Given the description of an element on the screen output the (x, y) to click on. 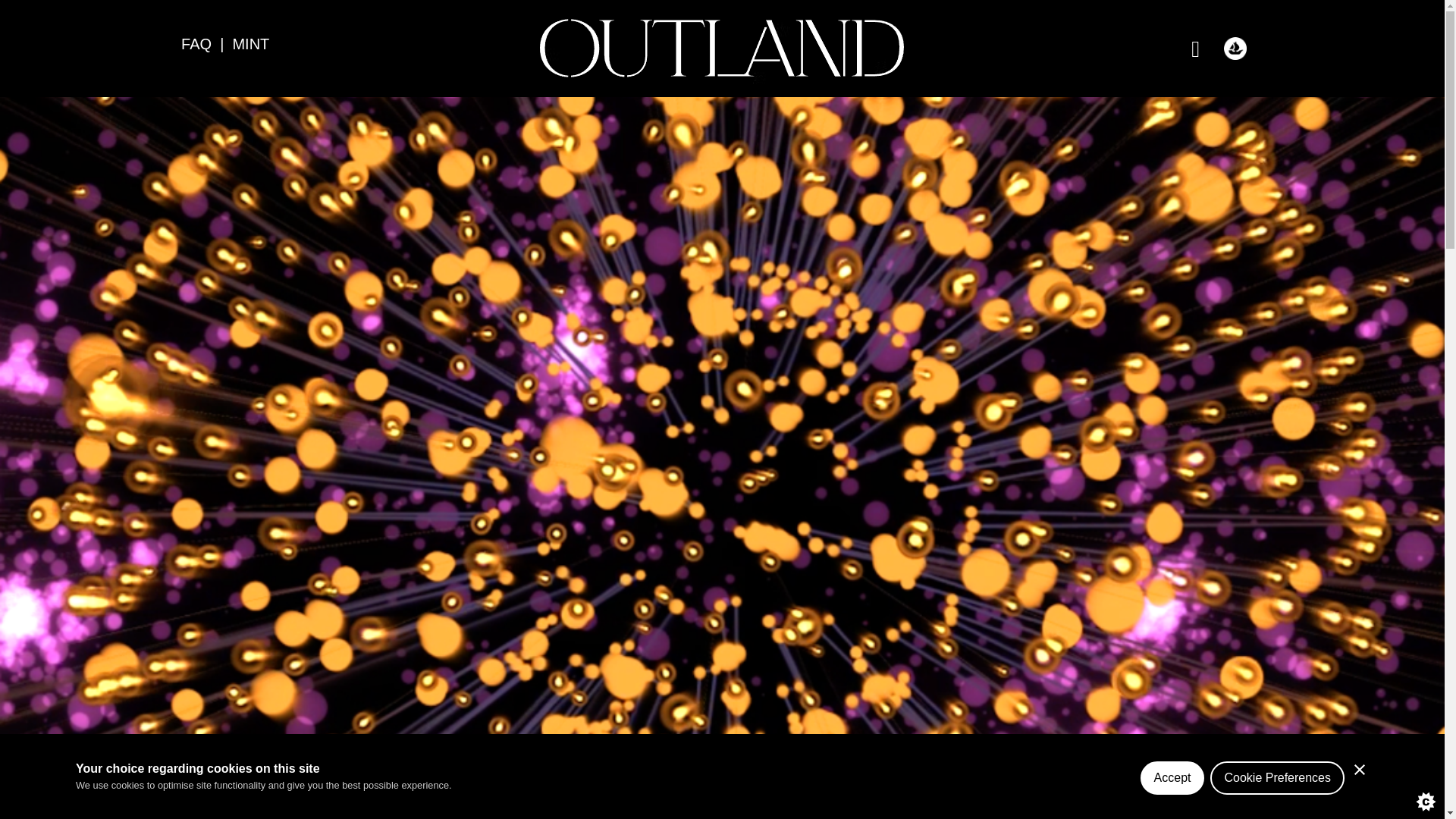
Discord (1235, 47)
MINT (250, 44)
Accept (1172, 794)
Cookie Preferences (1276, 788)
FAQ (195, 44)
